Given the description of an element on the screen output the (x, y) to click on. 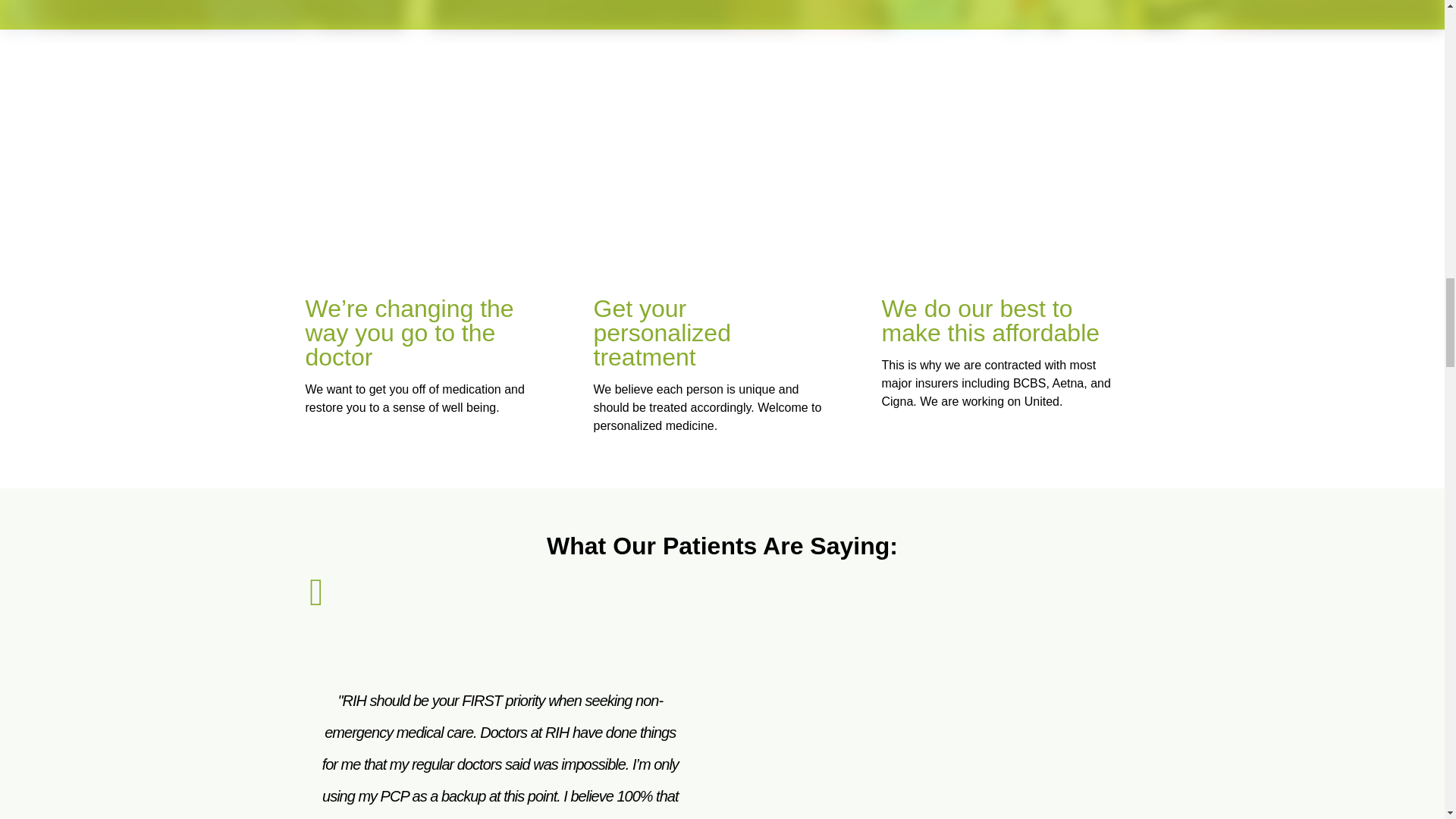
nurse-checking-blood-pressure (728, 179)
old-woman-smiling (1016, 179)
WinstonSalemPhotographer-5664 (440, 179)
Home (951, 719)
